Given the description of an element on the screen output the (x, y) to click on. 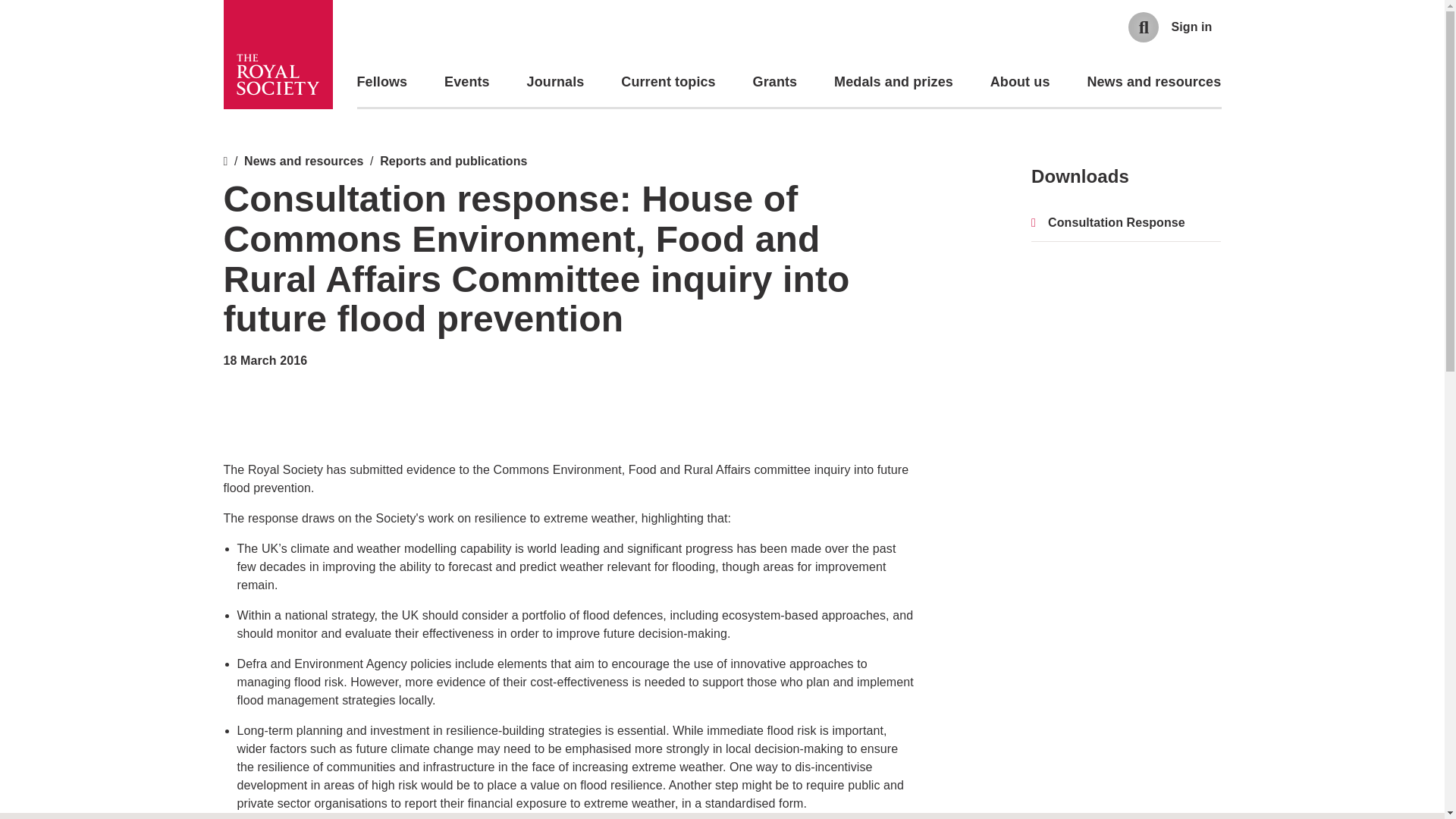
Current topics (667, 81)
Journals (556, 81)
Fellows (381, 81)
